Given the description of an element on the screen output the (x, y) to click on. 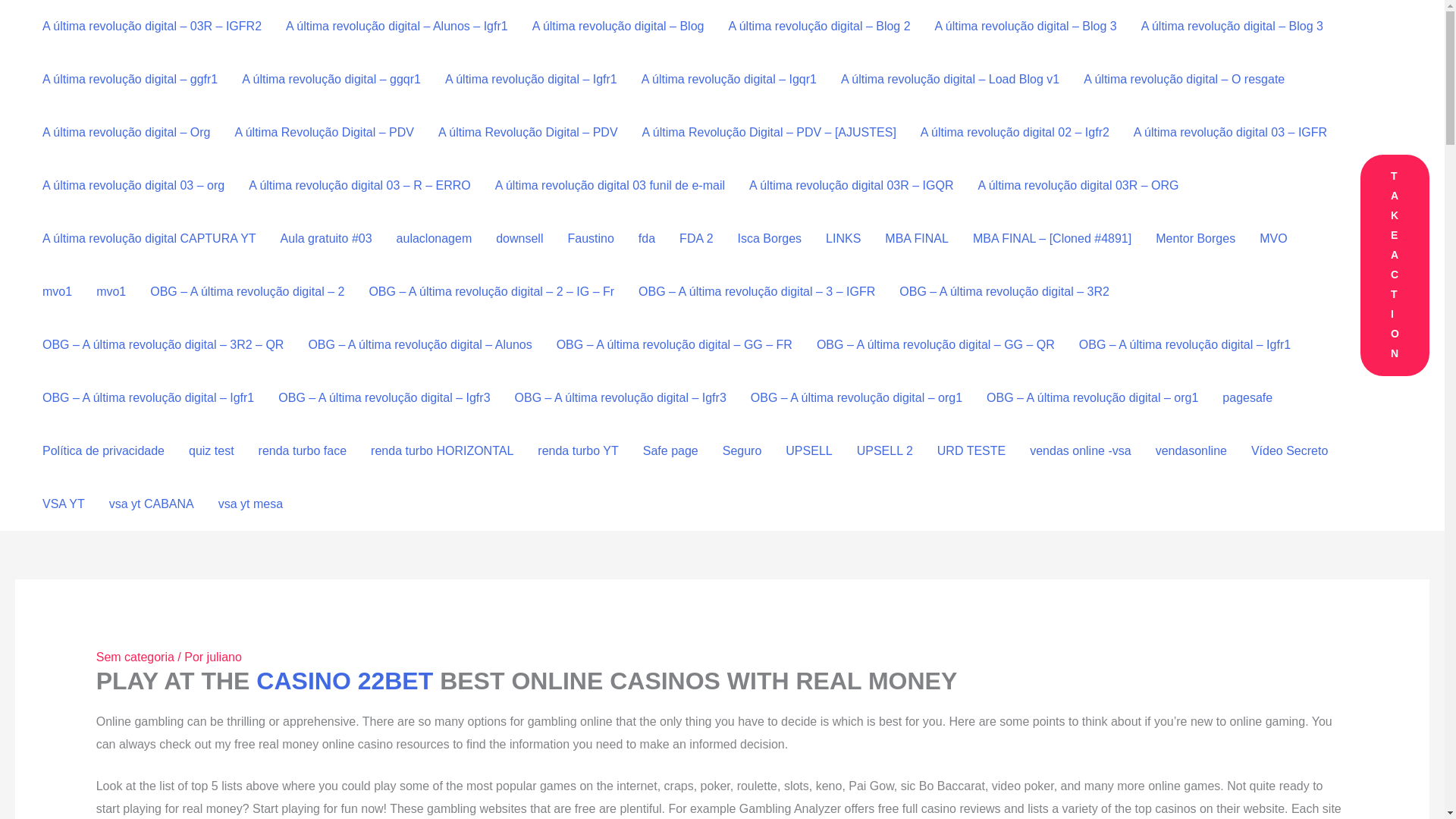
aulaclonagem (434, 238)
LINKS (842, 238)
downsell (518, 238)
Ver todos os posts de juliano (223, 656)
mvo1 (111, 291)
Faustino (590, 238)
MBA FINAL (916, 238)
mvo1 (57, 291)
Isca Borges (769, 238)
FDA 2 (695, 238)
